Given the description of an element on the screen output the (x, y) to click on. 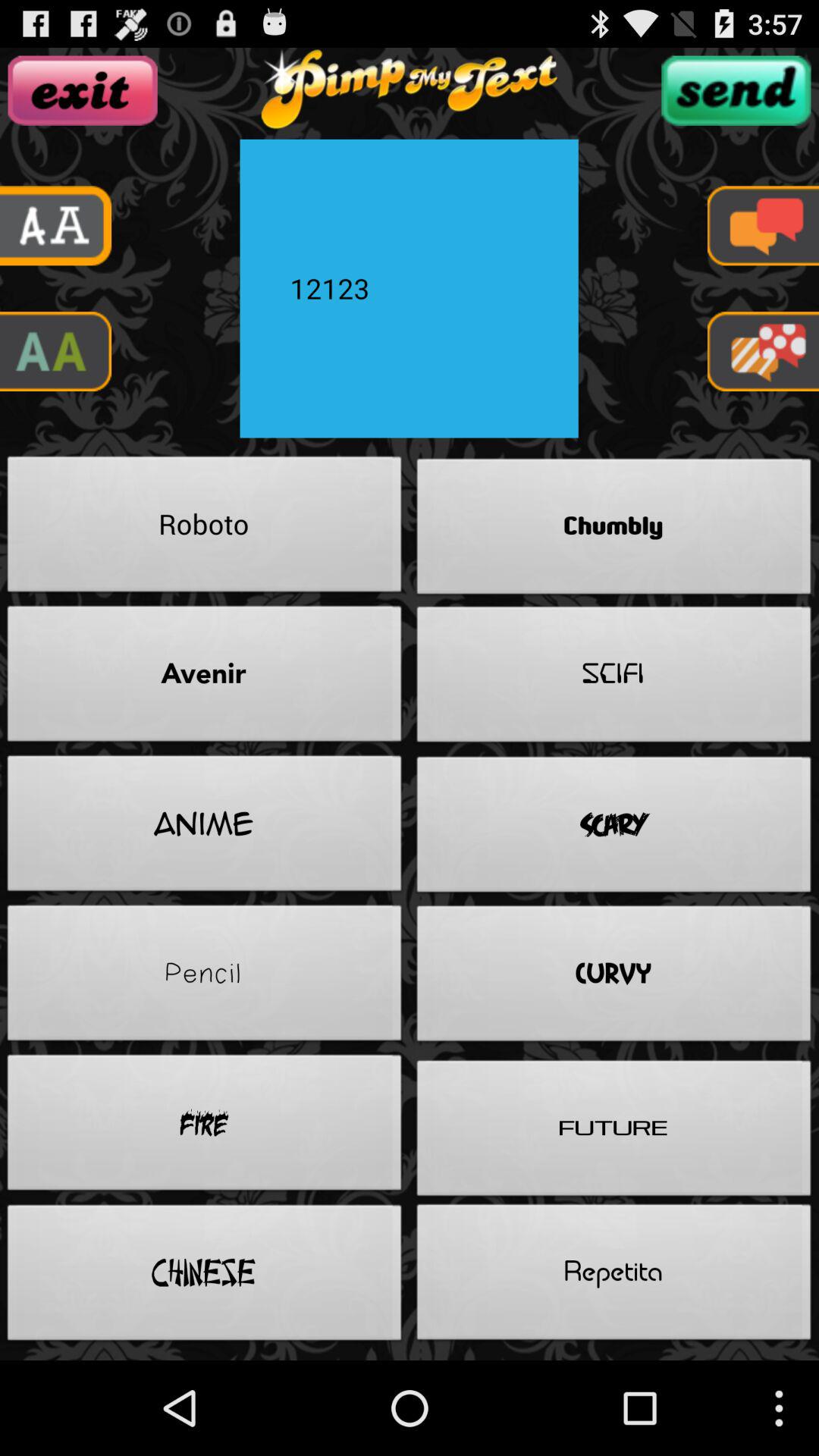
message page (763, 225)
